Given the description of an element on the screen output the (x, y) to click on. 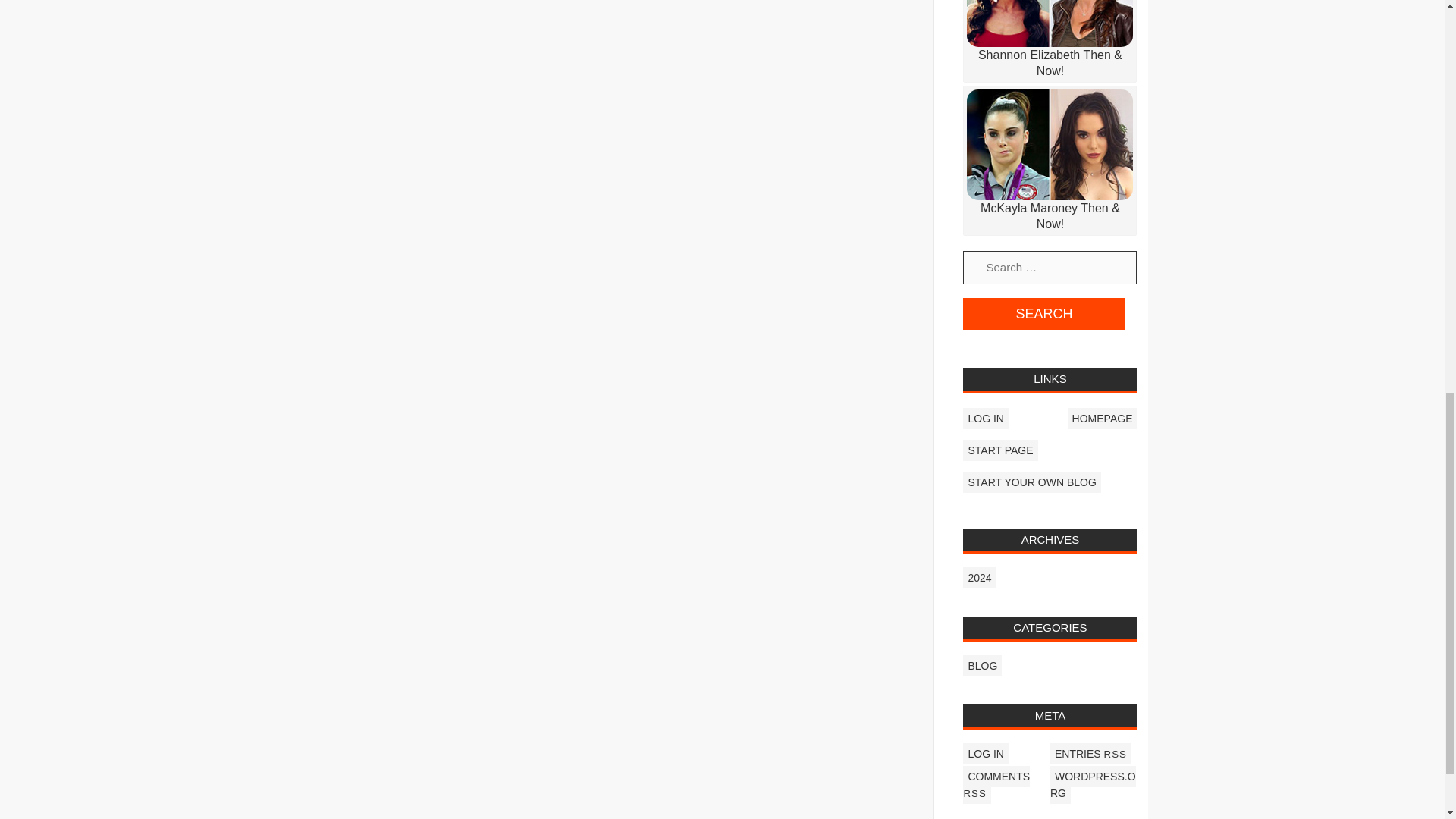
HOMEPAGE (1102, 418)
LOG IN (984, 753)
COMMENTS RSS (995, 784)
LOG IN (984, 418)
Really Simple Syndication (973, 793)
Search (1043, 314)
BLOG (981, 665)
START YOUR OWN BLOG (1031, 482)
WORDPRESS.ORG (1092, 784)
Really Simple Syndication (1114, 754)
START PAGE (999, 450)
2024 (978, 577)
Search (1043, 314)
ENTRIES RSS (1090, 753)
